Given the description of an element on the screen output the (x, y) to click on. 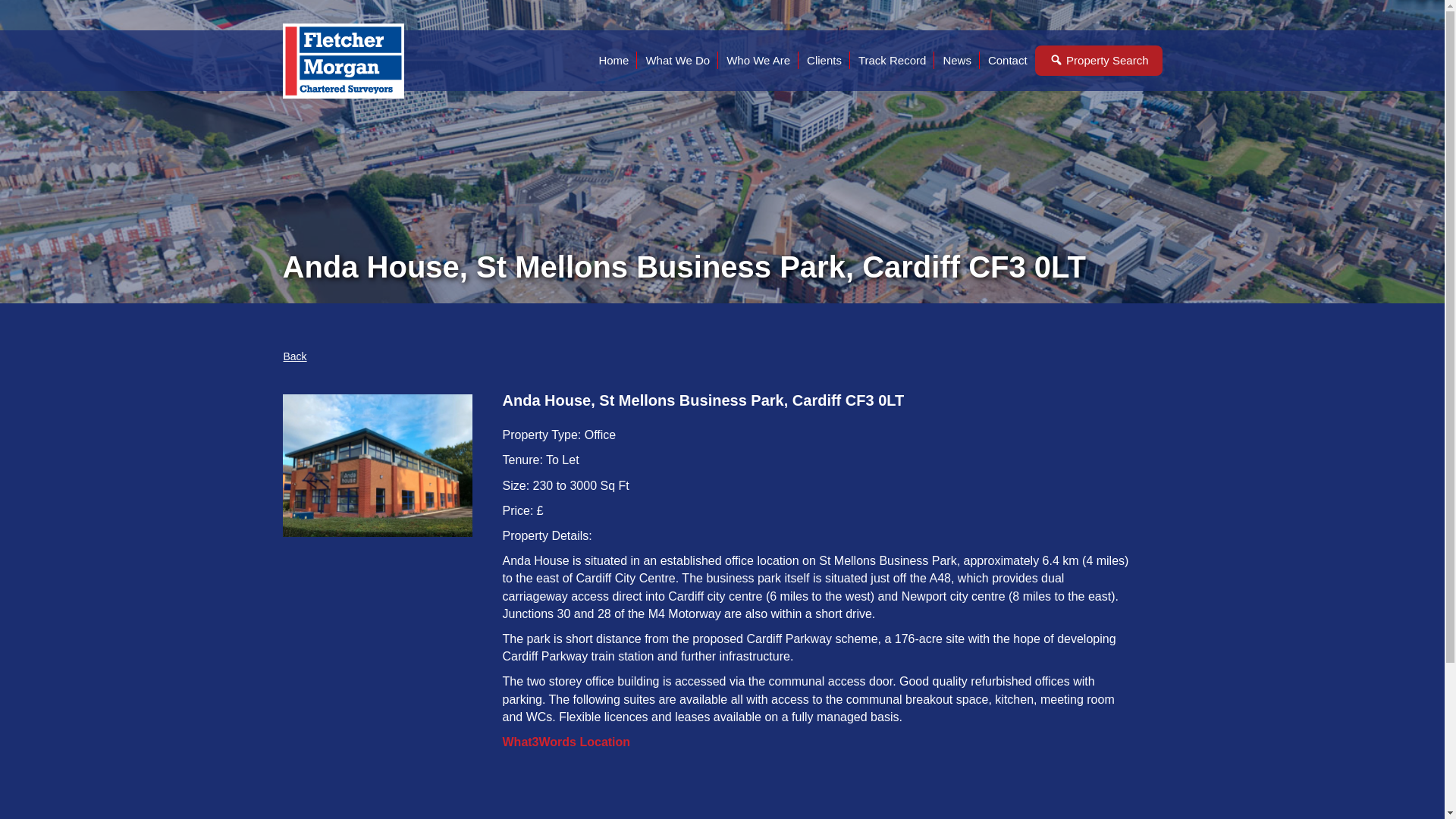
fm-logo (342, 60)
News (956, 59)
Who We Are (758, 59)
Home (613, 59)
Back (294, 355)
Track Record (891, 59)
Clients (823, 59)
Contact (1007, 59)
What3Words Location (566, 741)
Property Search (1099, 60)
